Given the description of an element on the screen output the (x, y) to click on. 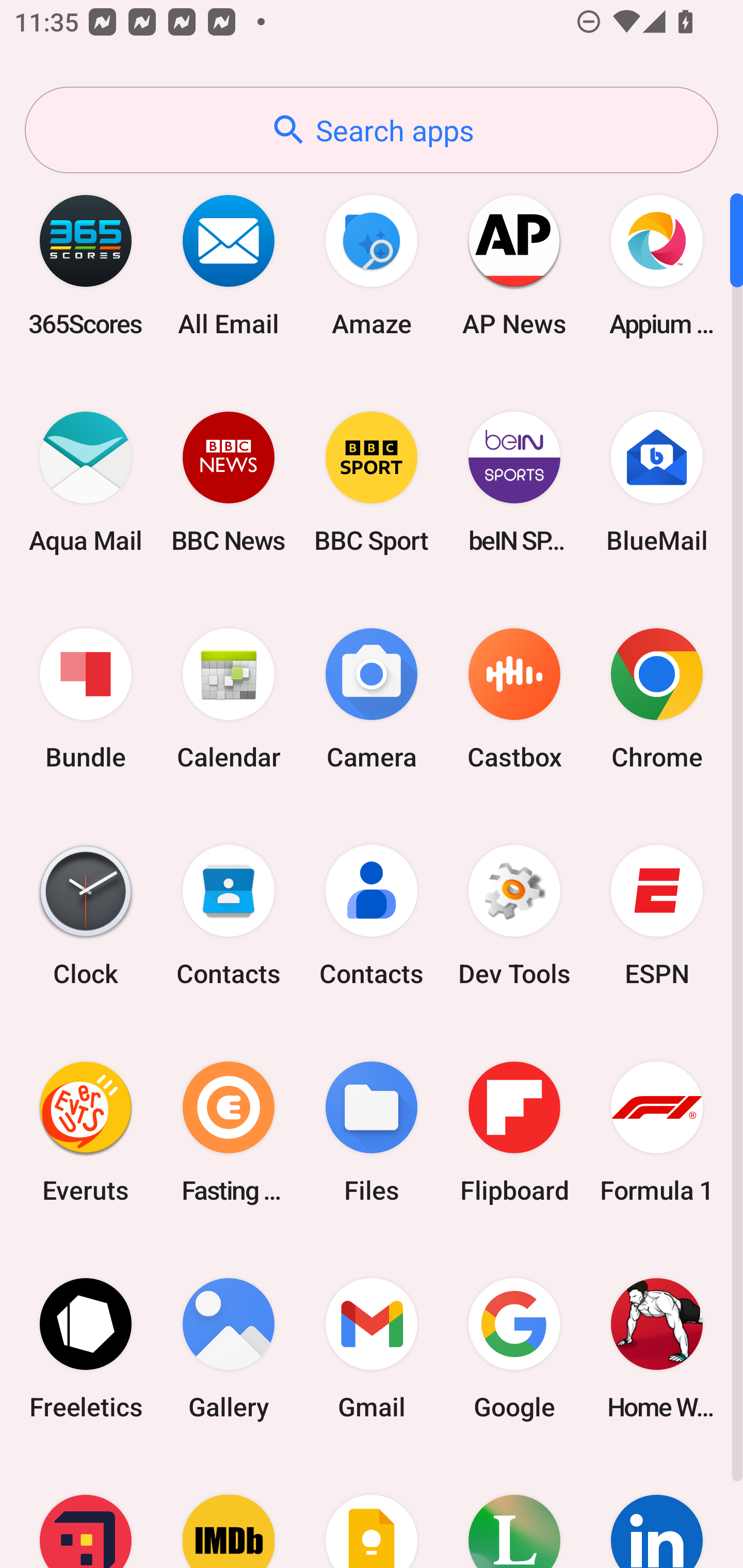
  Search apps (371, 130)
365Scores (85, 264)
All Email (228, 264)
Amaze (371, 264)
AP News (514, 264)
Appium Settings (656, 264)
Aqua Mail (85, 482)
BBC News (228, 482)
BBC Sport (371, 482)
beIN SPORTS (514, 482)
BlueMail (656, 482)
Bundle (85, 699)
Calendar (228, 699)
Camera (371, 699)
Castbox (514, 699)
Chrome (656, 699)
Clock (85, 915)
Contacts (228, 915)
Contacts (371, 915)
Dev Tools (514, 915)
ESPN (656, 915)
Everuts (85, 1131)
Fasting Coach (228, 1131)
Files (371, 1131)
Flipboard (514, 1131)
Formula 1 (656, 1131)
Freeletics (85, 1348)
Gallery (228, 1348)
Gmail (371, 1348)
Google (514, 1348)
Home Workout (656, 1348)
Hotels.com (85, 1512)
IMDb (228, 1512)
Keep Notes (371, 1512)
Lifesum (514, 1512)
LinkedIn (656, 1512)
